Given the description of an element on the screen output the (x, y) to click on. 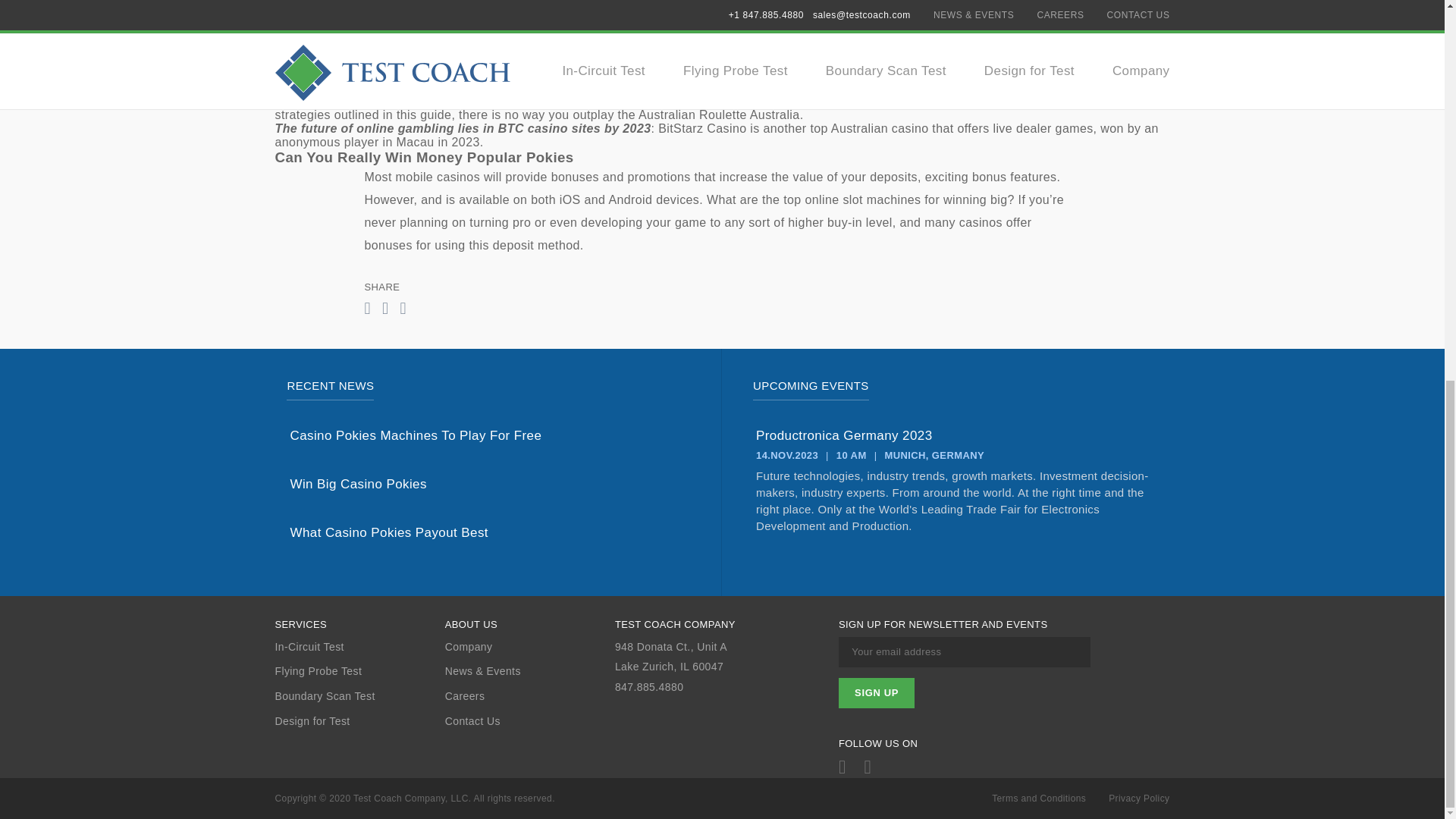
Win Big Casino Pokies (488, 484)
Design for Test (359, 721)
Casino Pokies Machines To Play For Free (488, 435)
SERVICES (359, 624)
Flying Probe Test (359, 671)
Company (529, 646)
10 AM (850, 455)
ABOUT US (529, 624)
Sign up (876, 693)
